Given the description of an element on the screen output the (x, y) to click on. 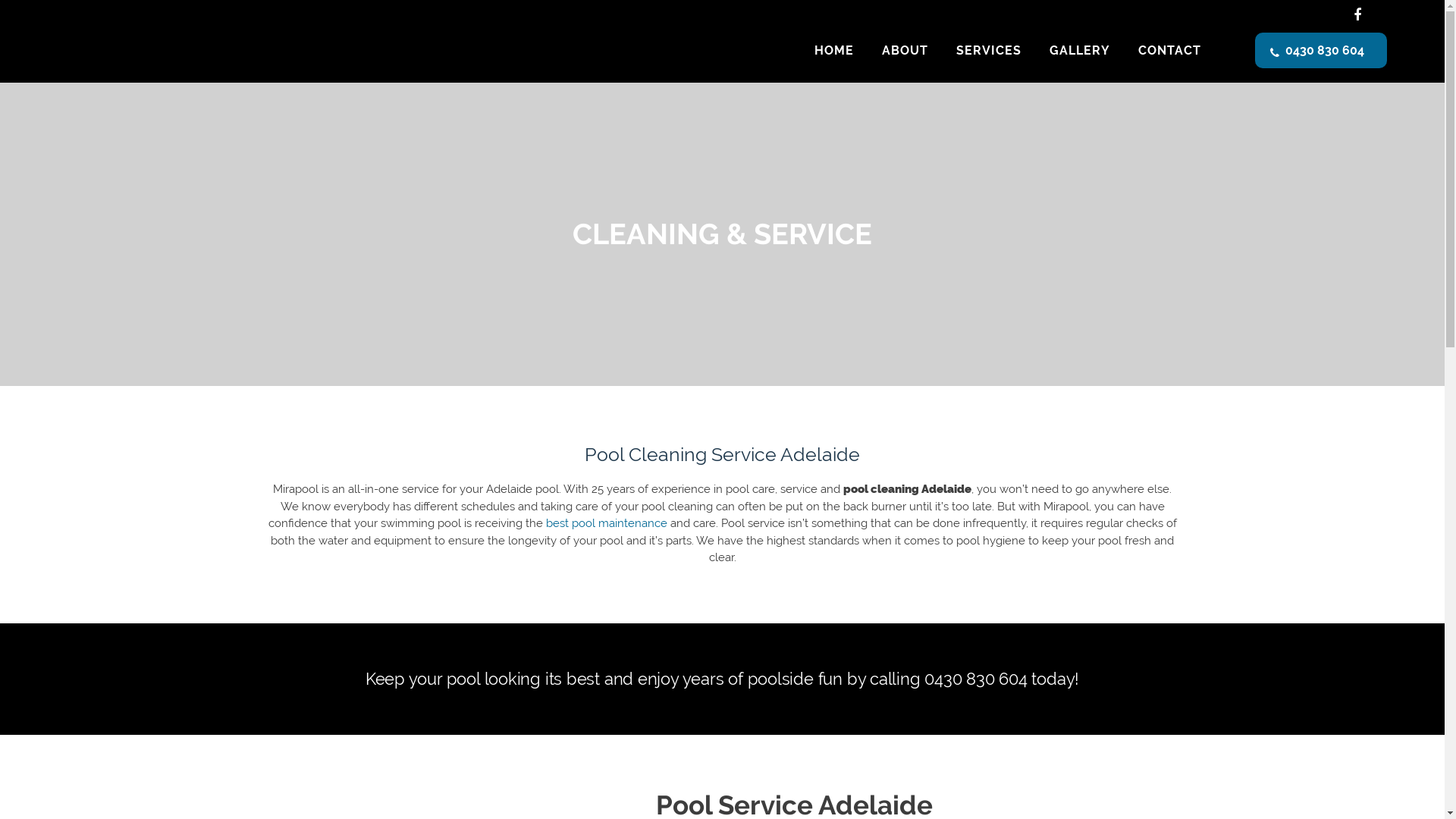
SERVICES Element type: text (988, 50)
0430 830 604 Element type: text (1320, 50)
best pool maintenance Element type: text (606, 523)
0430 830 604 Element type: text (975, 678)
CONTACT Element type: text (1169, 50)
HOME Element type: text (834, 50)
ABOUT Element type: text (904, 50)
MIRAPOOL Element type: text (204, 50)
GALLERY Element type: text (1079, 50)
